Given the description of an element on the screen output the (x, y) to click on. 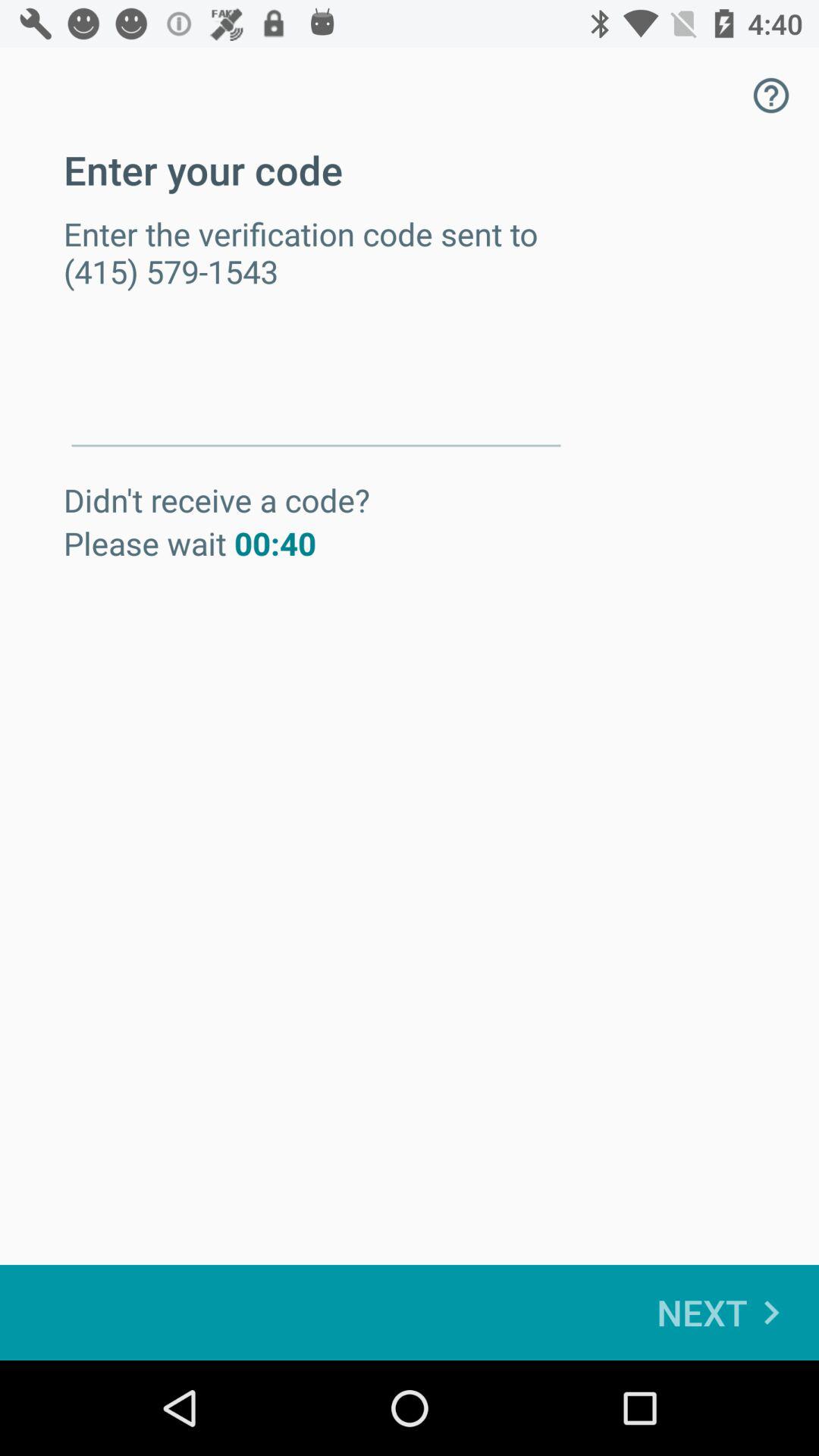
select item above next (771, 95)
